Given the description of an element on the screen output the (x, y) to click on. 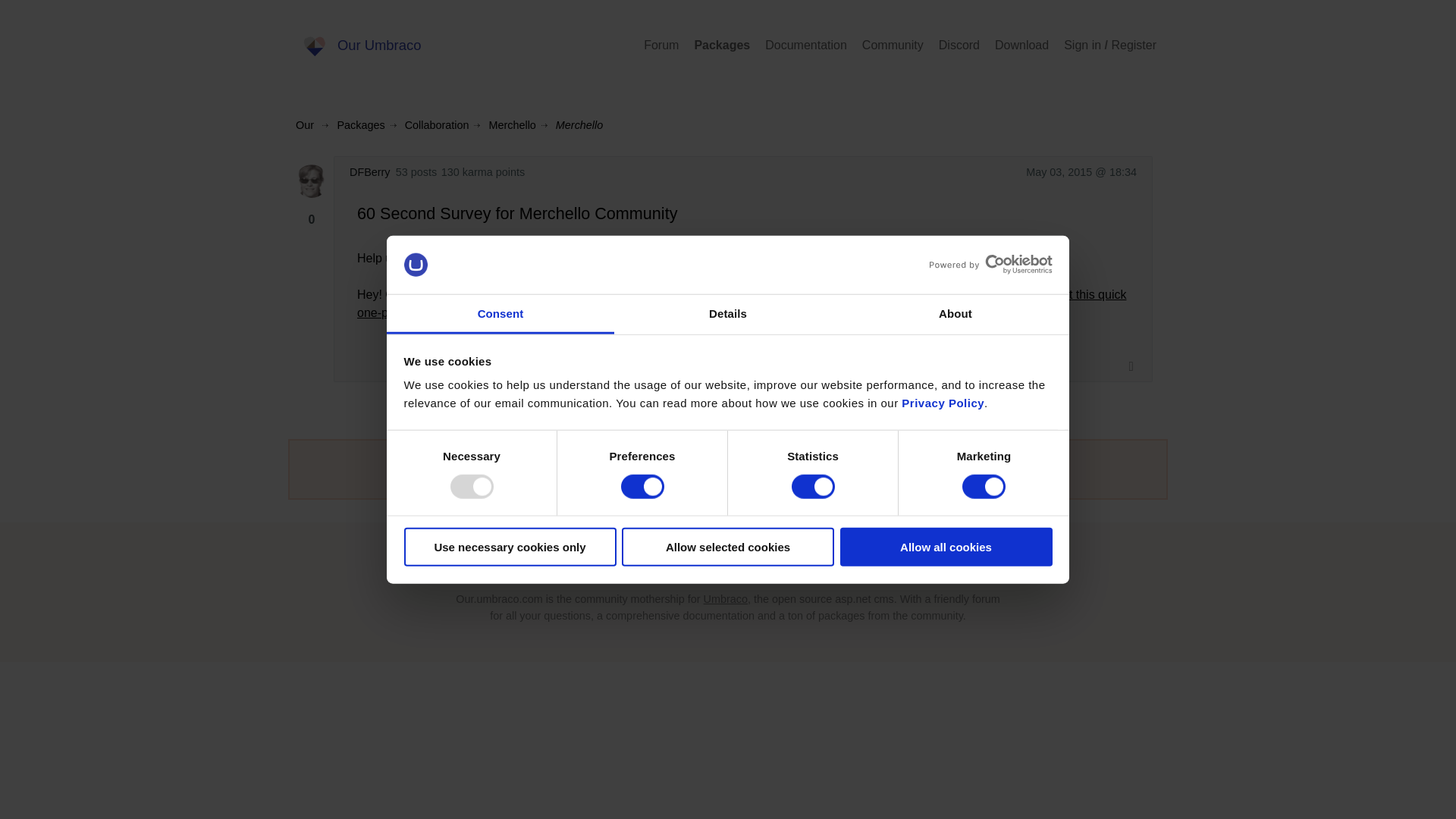
Use necessary cookies only (509, 546)
Consent (500, 314)
Allow selected cookies (727, 546)
Privacy Policy (942, 402)
About (954, 314)
Details (727, 314)
Allow all cookies (946, 546)
